Given the description of an element on the screen output the (x, y) to click on. 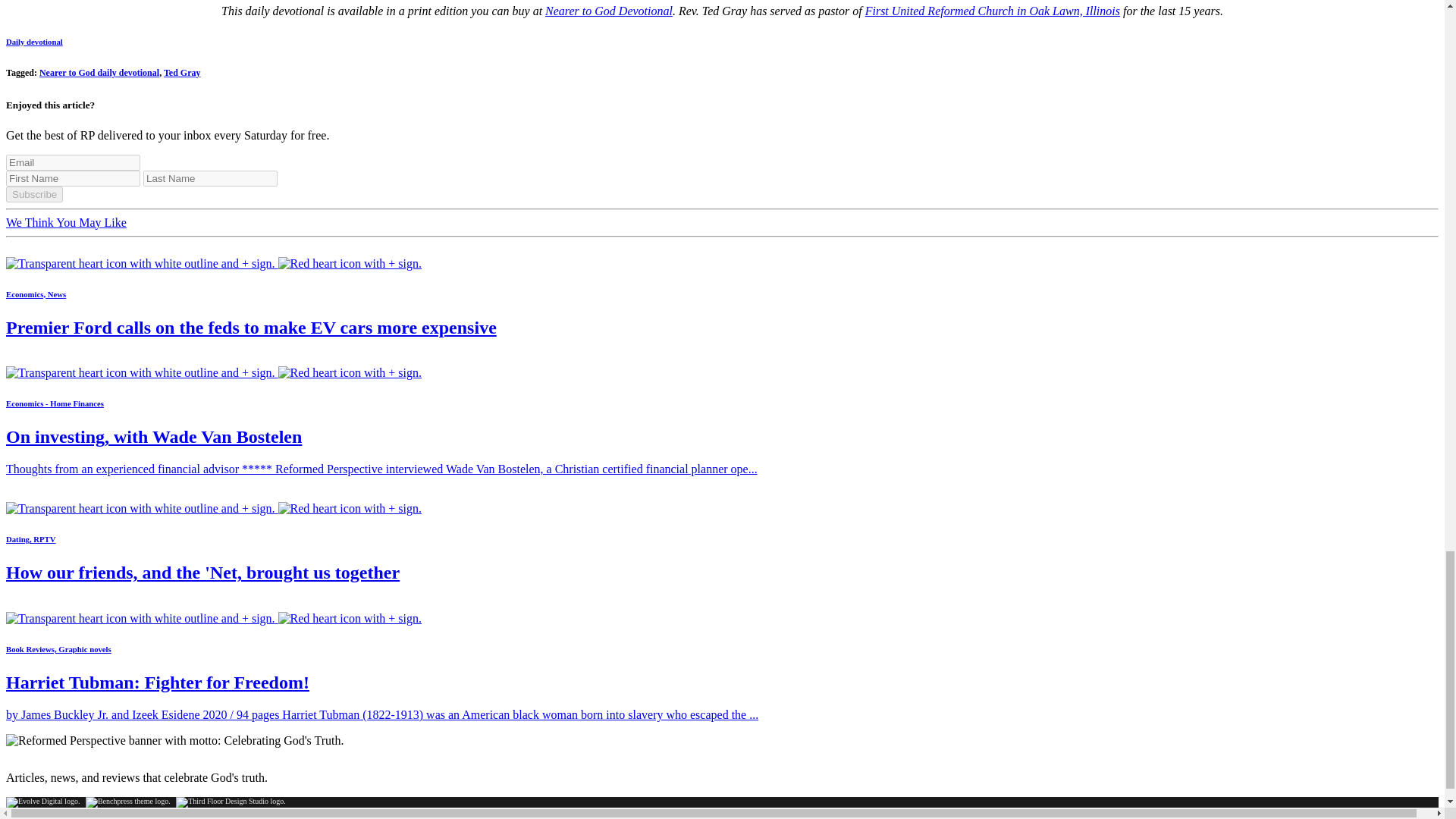
Subscribe to RP (213, 263)
Nearer to God Devotional (608, 10)
Subscribe to RP (213, 508)
Subscribe to RP (213, 617)
Subscribe to RP (213, 372)
Subscribe (33, 194)
